Given the description of an element on the screen output the (x, y) to click on. 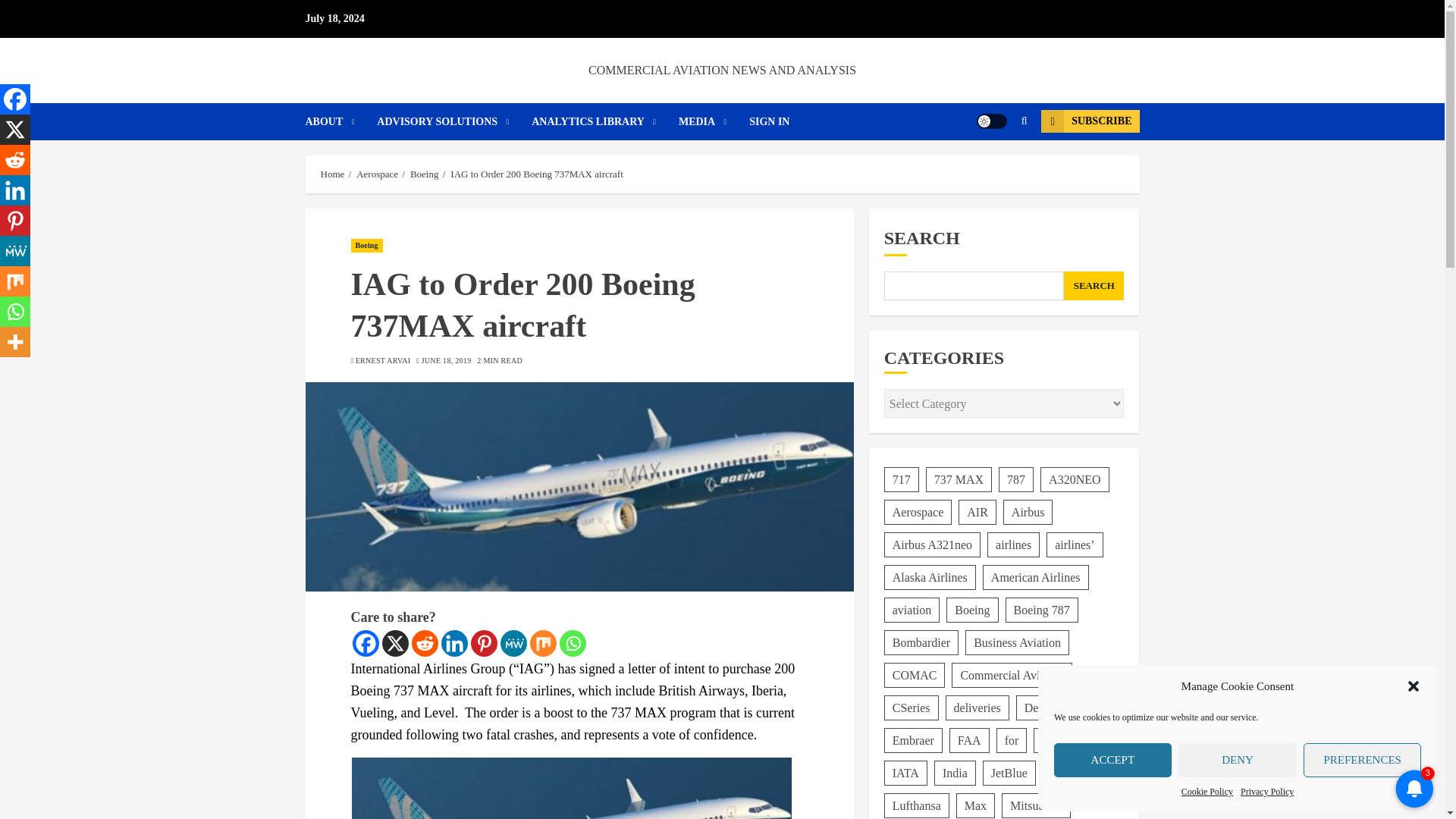
Mix (542, 642)
ADVISORY SOLUTIONS (454, 121)
MeWe (513, 642)
ACCEPT (1113, 759)
MEDIA (713, 121)
Facebook (15, 99)
Whatsapp (572, 642)
Privacy Policy (1267, 791)
Pinterest (483, 642)
X (395, 642)
X (15, 129)
Facebook (365, 642)
ANALYTICS LIBRARY (604, 121)
ABOUT (340, 121)
Linkedin (454, 642)
